Given the description of an element on the screen output the (x, y) to click on. 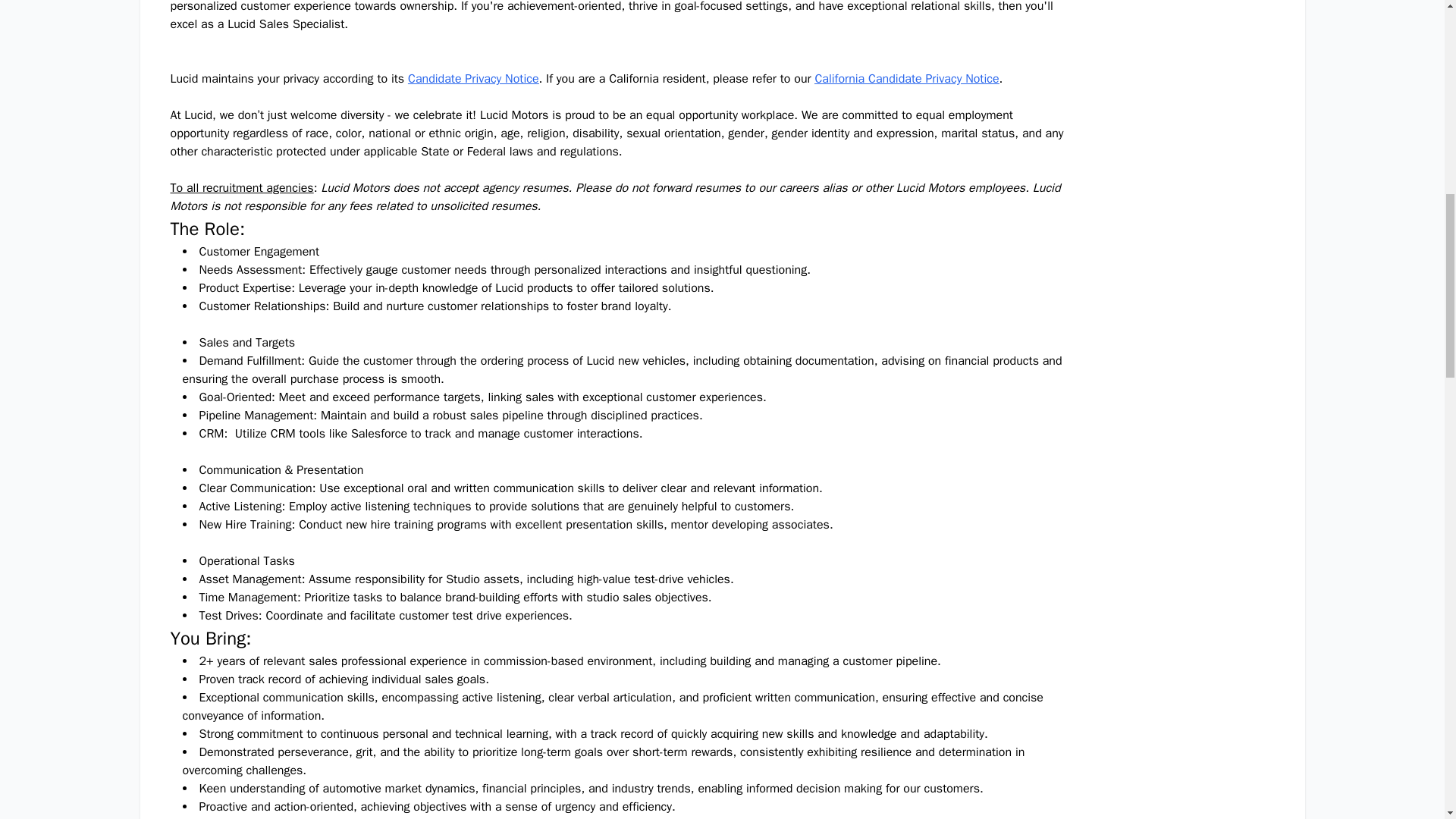
California Candidate Privacy Notice (905, 78)
Candidate Privacy Notice (472, 78)
